Given the description of an element on the screen output the (x, y) to click on. 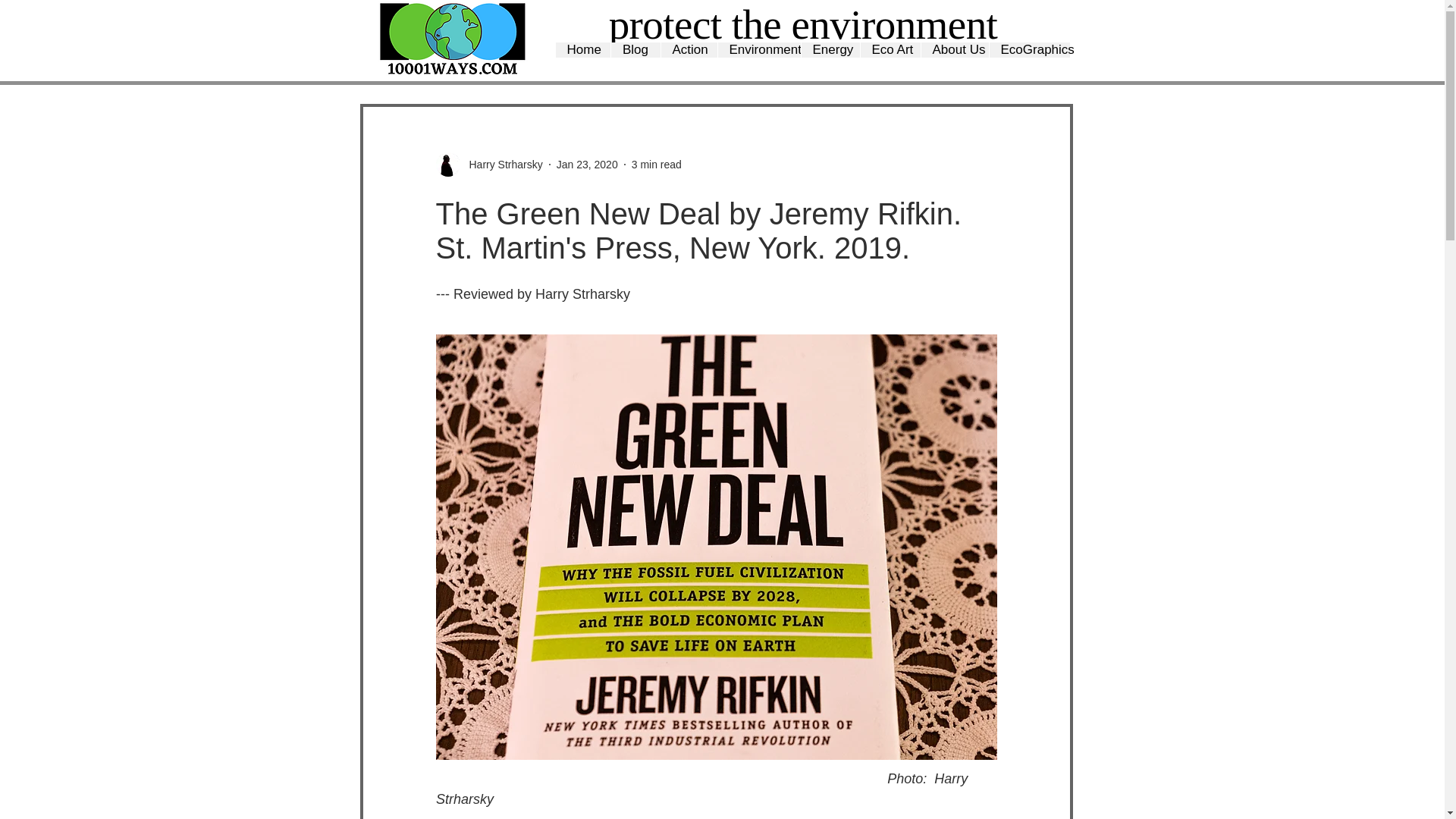
Jan 23, 2020 (586, 163)
Harry Strharsky (500, 163)
Copy of Copy of Copy 3.png (451, 39)
Energy (830, 49)
3 min read (656, 163)
EcoGraphics (1029, 49)
protect the environment (802, 24)
Home (582, 49)
